Given the description of an element on the screen output the (x, y) to click on. 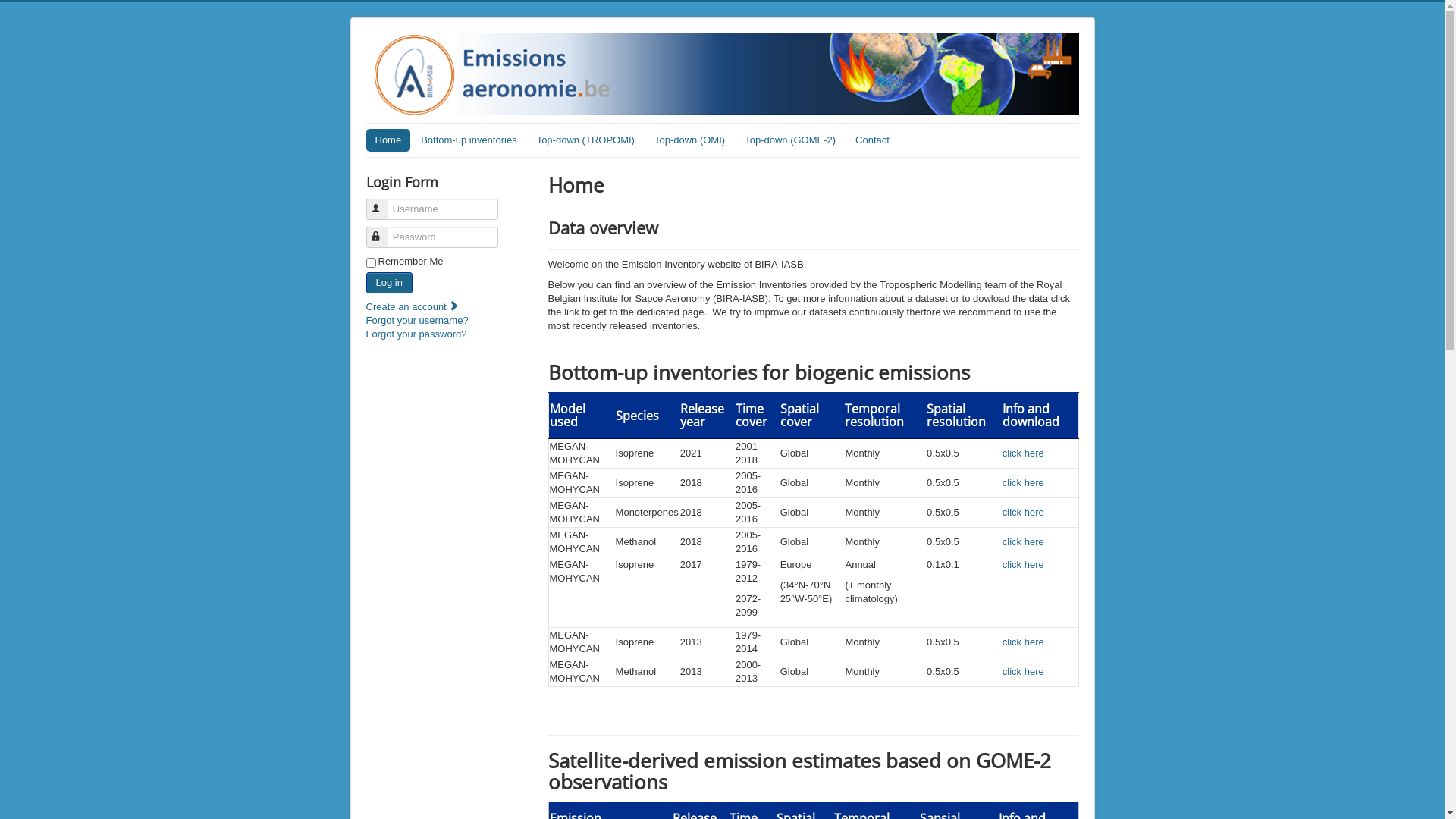
click here Element type: text (1023, 564)
click here Element type: text (1023, 511)
Create an account Element type: text (413, 306)
Top-down (OMI) Element type: text (689, 139)
Top-down (TROPOMI) Element type: text (585, 139)
click here Element type: text (1023, 452)
Top-down (GOME-2) Element type: text (789, 139)
click here Element type: text (1023, 641)
Log in Element type: text (388, 282)
Home Element type: text (387, 139)
click here Element type: text (1023, 482)
click here Element type: text (1023, 671)
click here Element type: text (1023, 541)
Contact Element type: text (872, 139)
Bottom-up inventories Element type: text (468, 139)
Forgot your username? Element type: text (416, 320)
Forgot your password? Element type: text (415, 333)
